Given the description of an element on the screen output the (x, y) to click on. 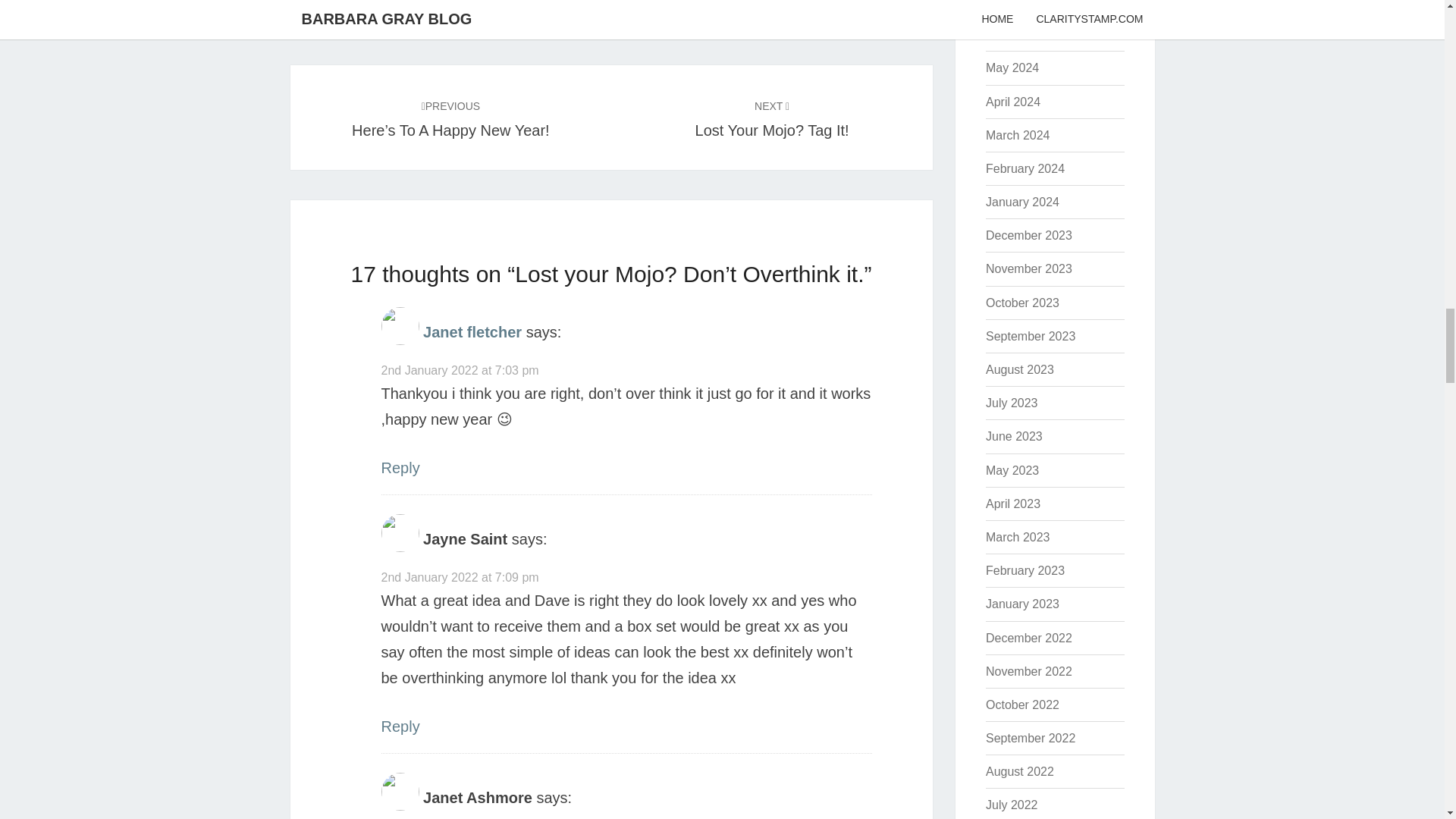
Reply (399, 467)
Reply (399, 726)
2nd January 2022 at 7:03 pm (771, 117)
Janet fletcher (459, 369)
2nd January 2022 at 7:09 pm (472, 331)
